Given the description of an element on the screen output the (x, y) to click on. 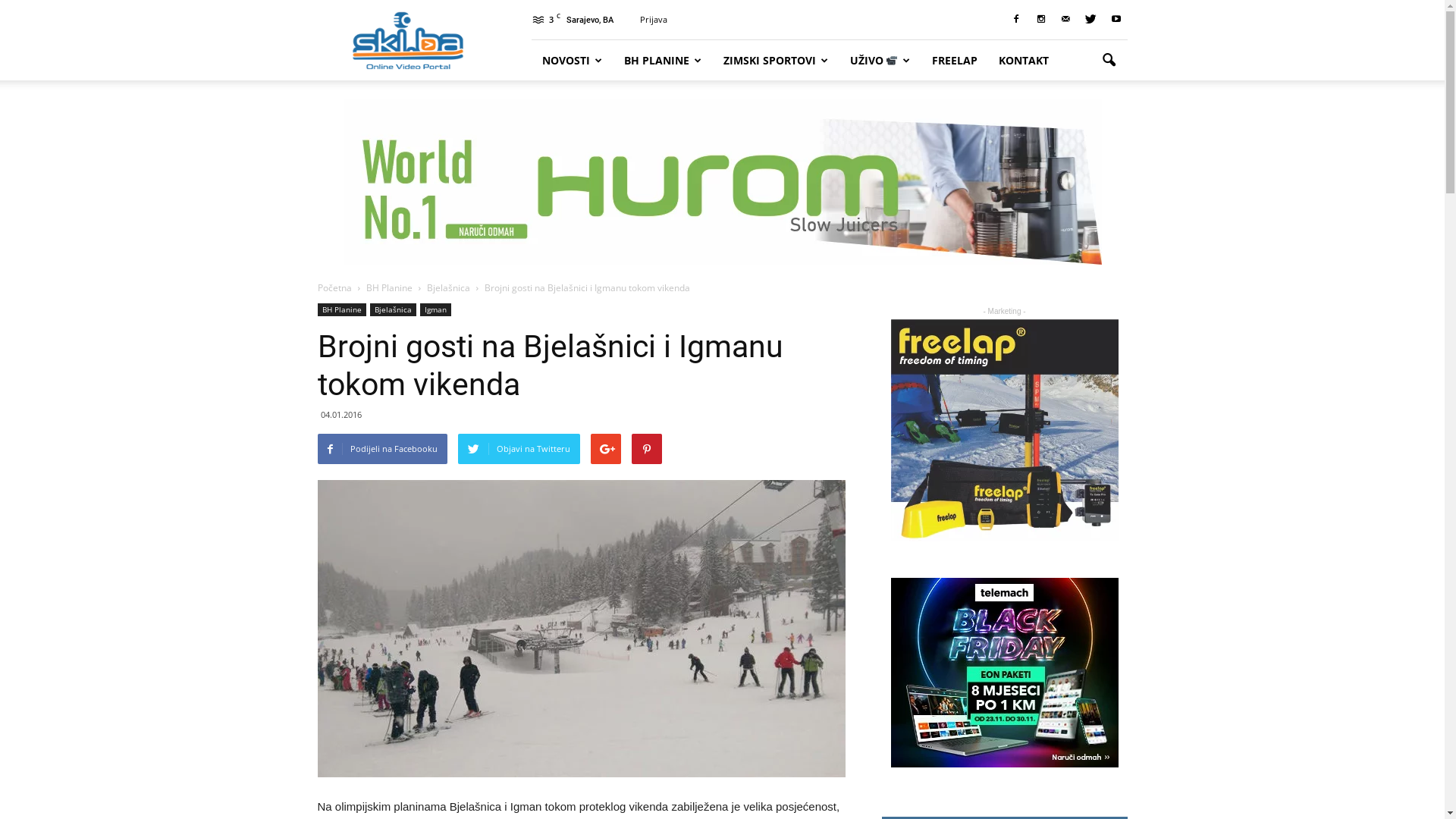
Twitter Element type: hover (1090, 19)
Igman Element type: text (435, 309)
Instagram Element type: hover (1040, 19)
Youtube Element type: hover (1115, 19)
Objavi na Twitteru Element type: text (519, 448)
NOVOSTI Element type: text (571, 60)
ZIMSKI SPORTOVI Element type: text (775, 60)
bjelasnica-igman-20160104 Element type: hover (580, 628)
BH Planine Element type: text (340, 309)
FREELAP Element type: text (954, 60)
KONTAKT Element type: text (1023, 60)
BH PLANINE Element type: text (662, 60)
Podijeli na Facebooku Element type: text (381, 448)
BH Planine Element type: text (389, 287)
Mail Element type: hover (1065, 19)
Prijava Element type: text (653, 19)
Facebook Element type: hover (1015, 19)
